Given the description of an element on the screen output the (x, y) to click on. 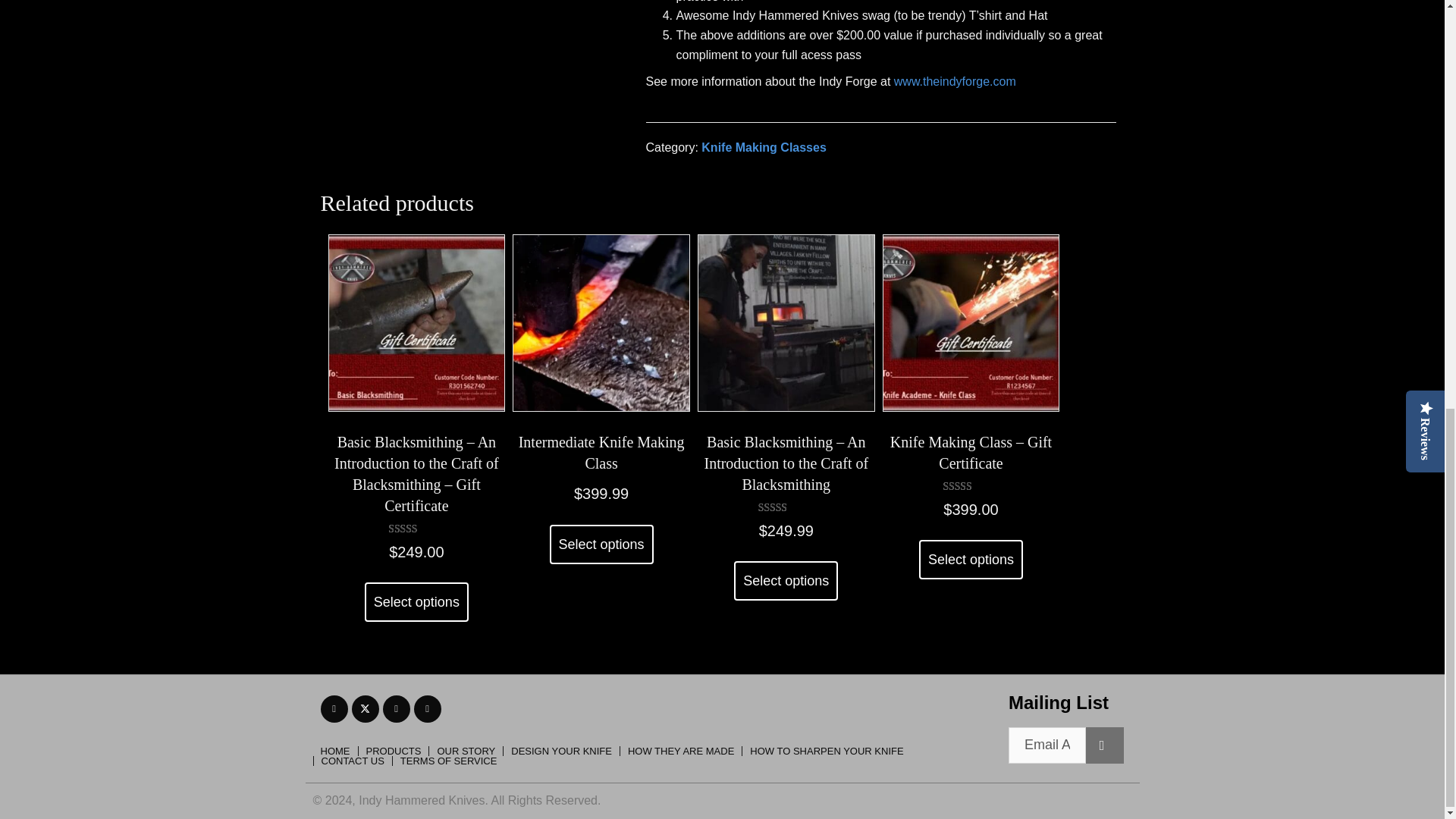
Pintrest (427, 708)
Facebook (333, 708)
Instagram (395, 708)
